Given the description of an element on the screen output the (x, y) to click on. 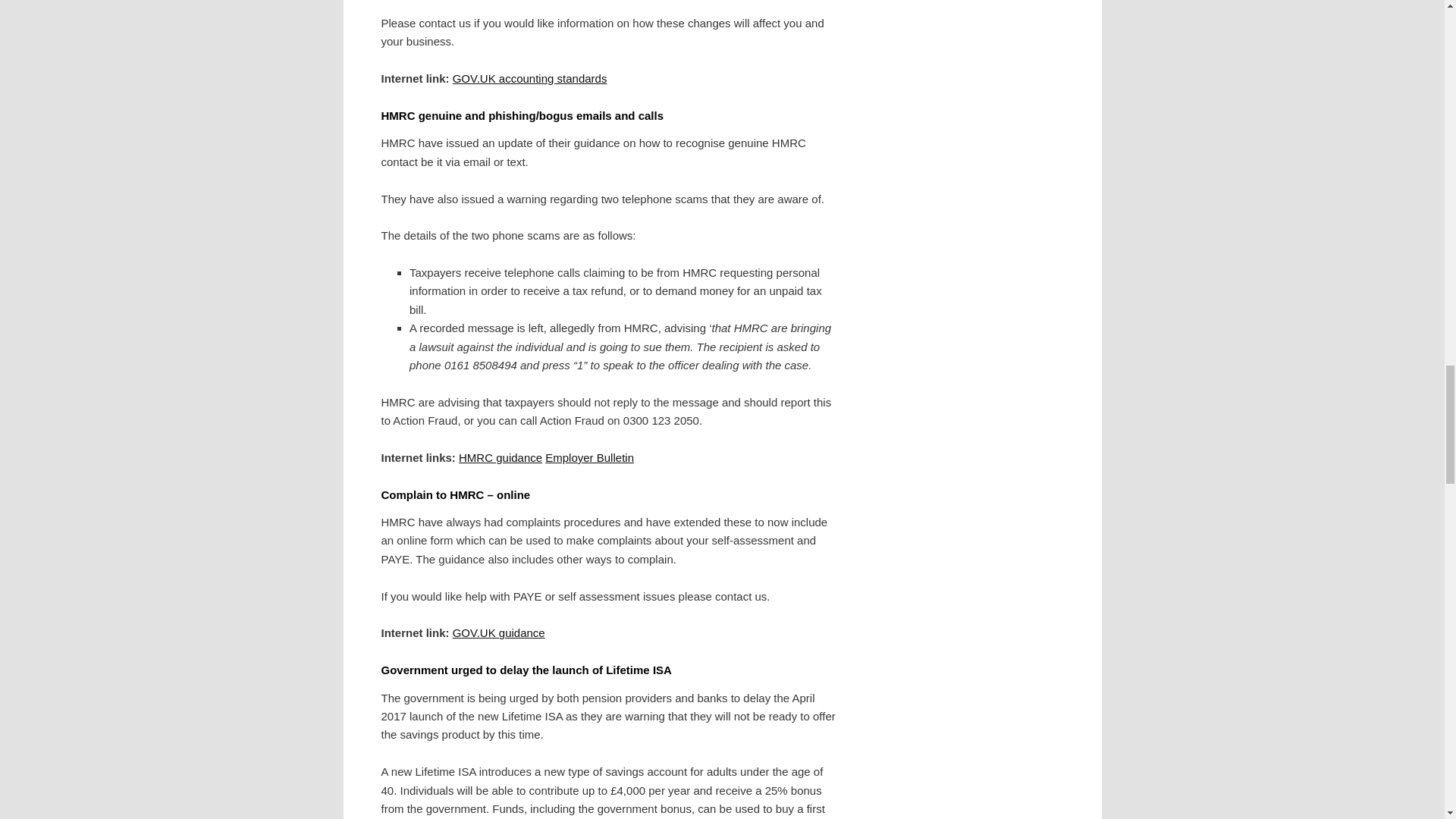
HMRC guidance (499, 457)
Employer Bulletin (588, 457)
GOV.UK guidance (498, 632)
GOV.UK accounting standards (529, 78)
